Given the description of an element on the screen output the (x, y) to click on. 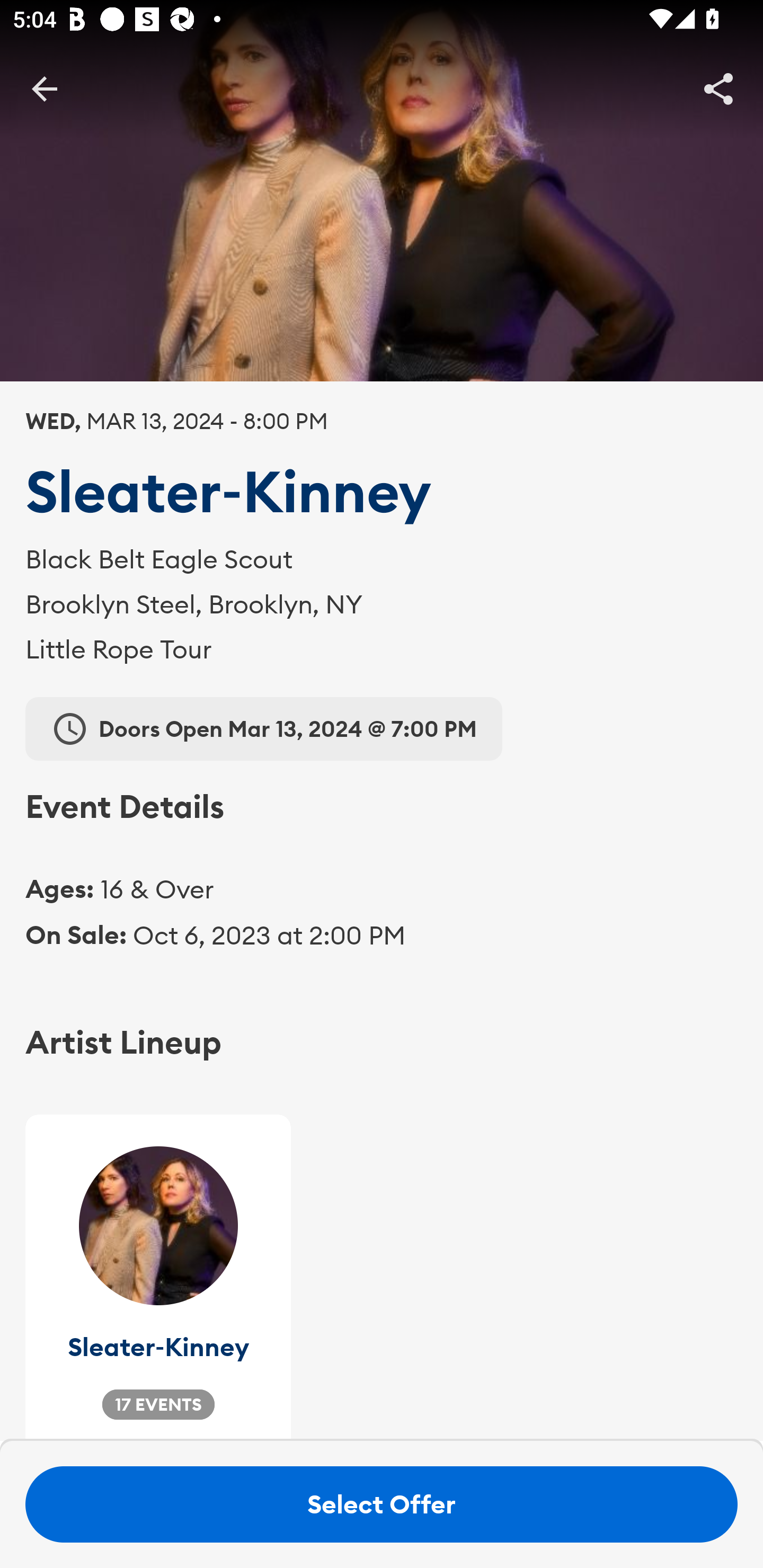
BackButton (44, 88)
Share (718, 88)
Sleater‐Kinney 17 EVENTS (157, 1277)
Select Offer (381, 1504)
